Given the description of an element on the screen output the (x, y) to click on. 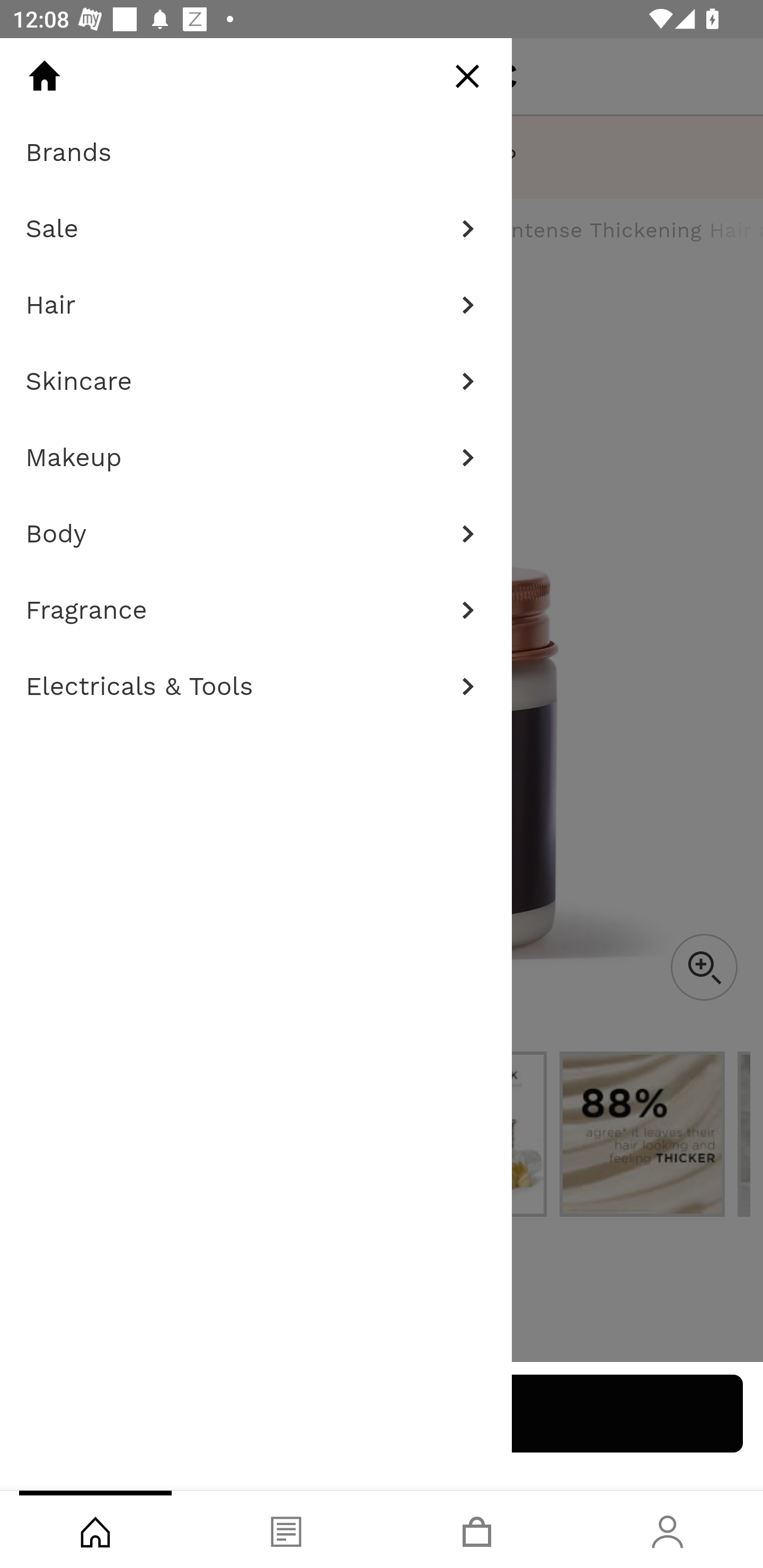
Home (44, 75)
Close Menu (467, 75)
Brands (255, 152)
Sale (255, 228)
Hair (255, 304)
Skincare (255, 381)
Makeup (255, 457)
Body (255, 533)
Fragrance (255, 610)
Electricals & Tools (255, 686)
Shop, tab, 1 of 4 (95, 1529)
Blog, tab, 2 of 4 (285, 1529)
Basket, tab, 3 of 4 (476, 1529)
Account, tab, 4 of 4 (667, 1529)
